Given the description of an element on the screen output the (x, y) to click on. 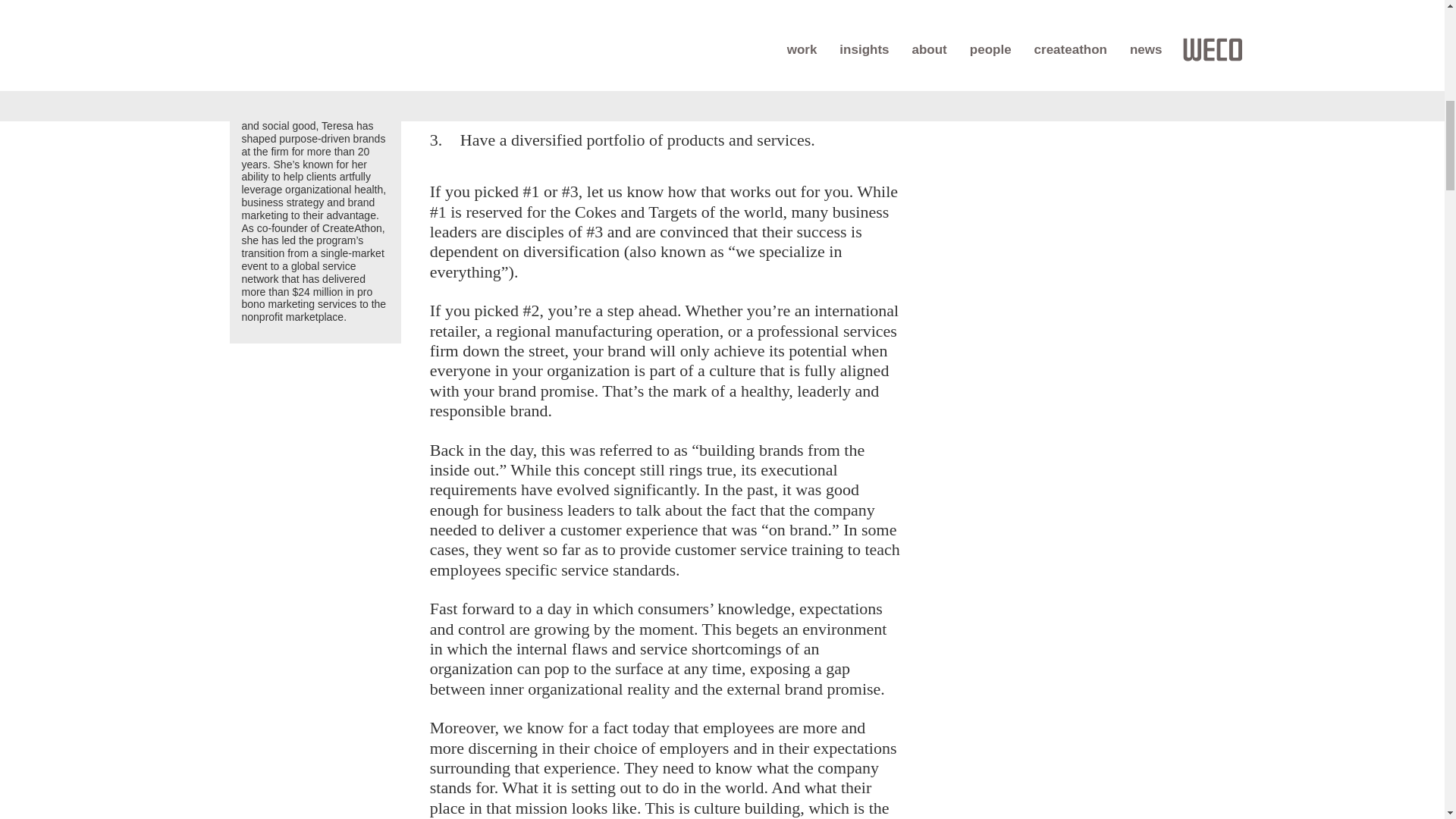
Teresa Coles (314, 49)
Organizational Culture (1081, 107)
categories (1102, 12)
Interview Series (1063, 88)
Brand Marketing (1064, 52)
Business Strategy (1069, 70)
